Given the description of an element on the screen output the (x, y) to click on. 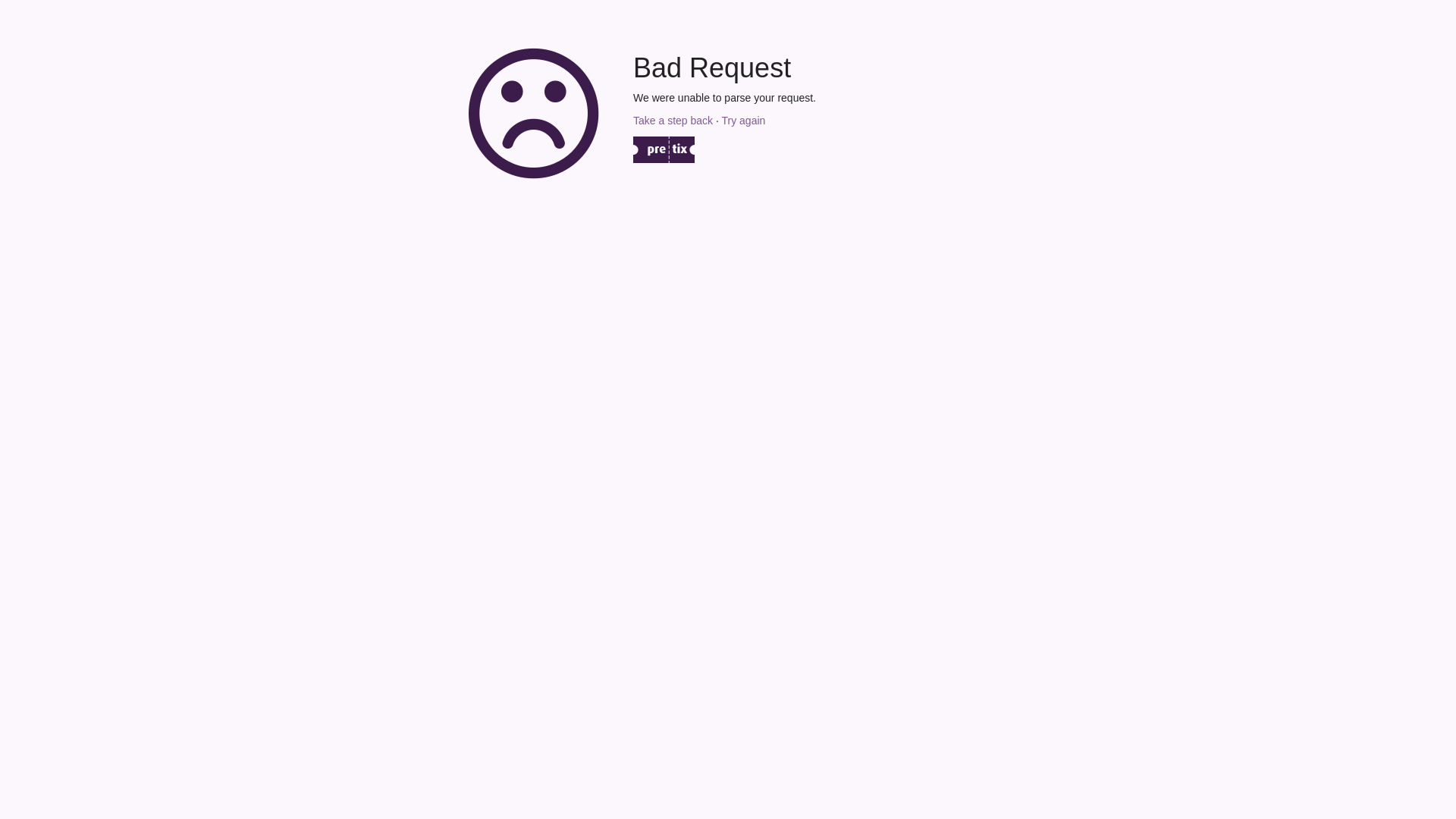
Take a step back Element type: text (672, 120)
Try again Element type: text (743, 120)
